Given the description of an element on the screen output the (x, y) to click on. 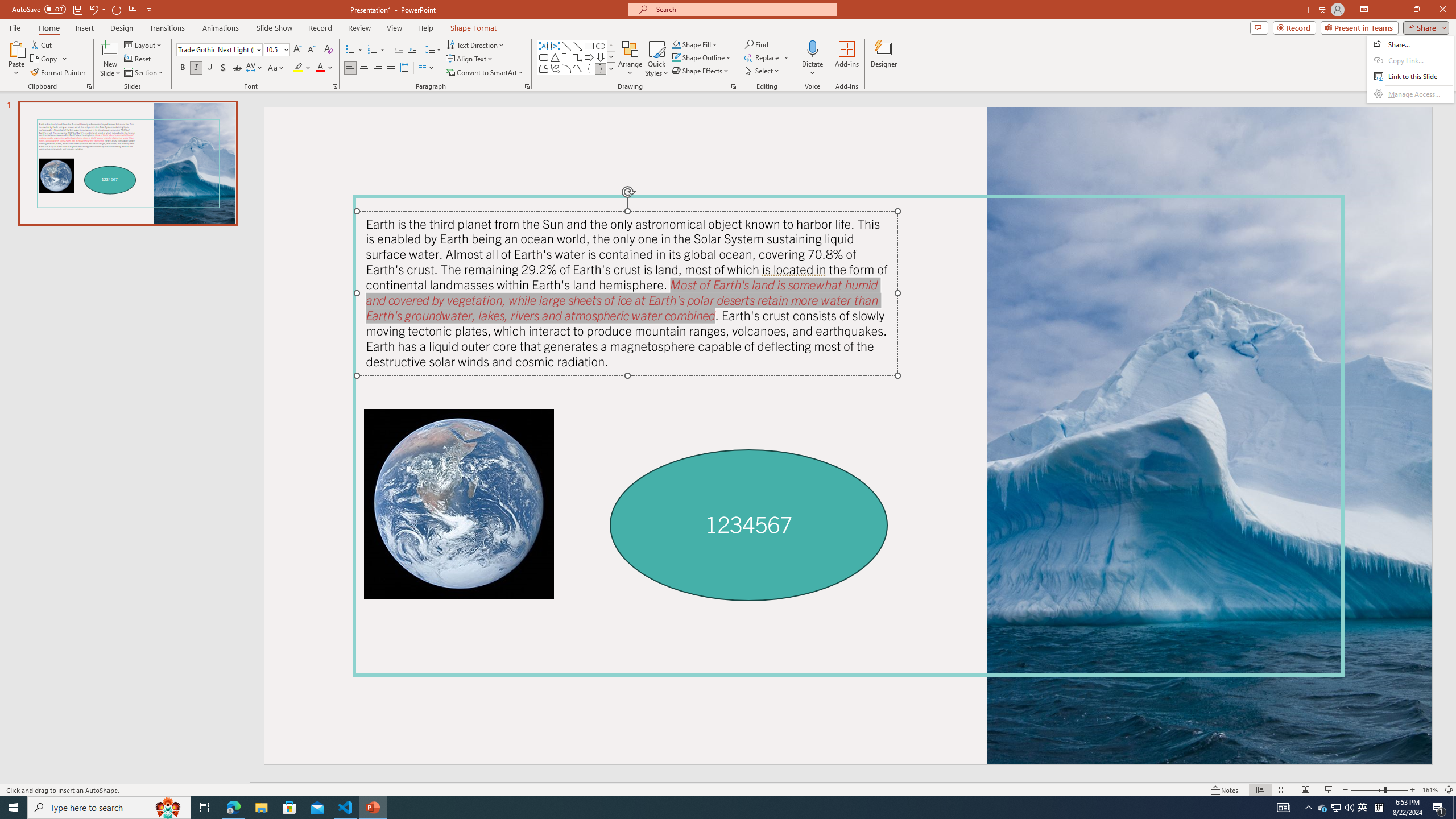
Action Center, 1 new notification (1439, 807)
